Given the description of an element on the screen output the (x, y) to click on. 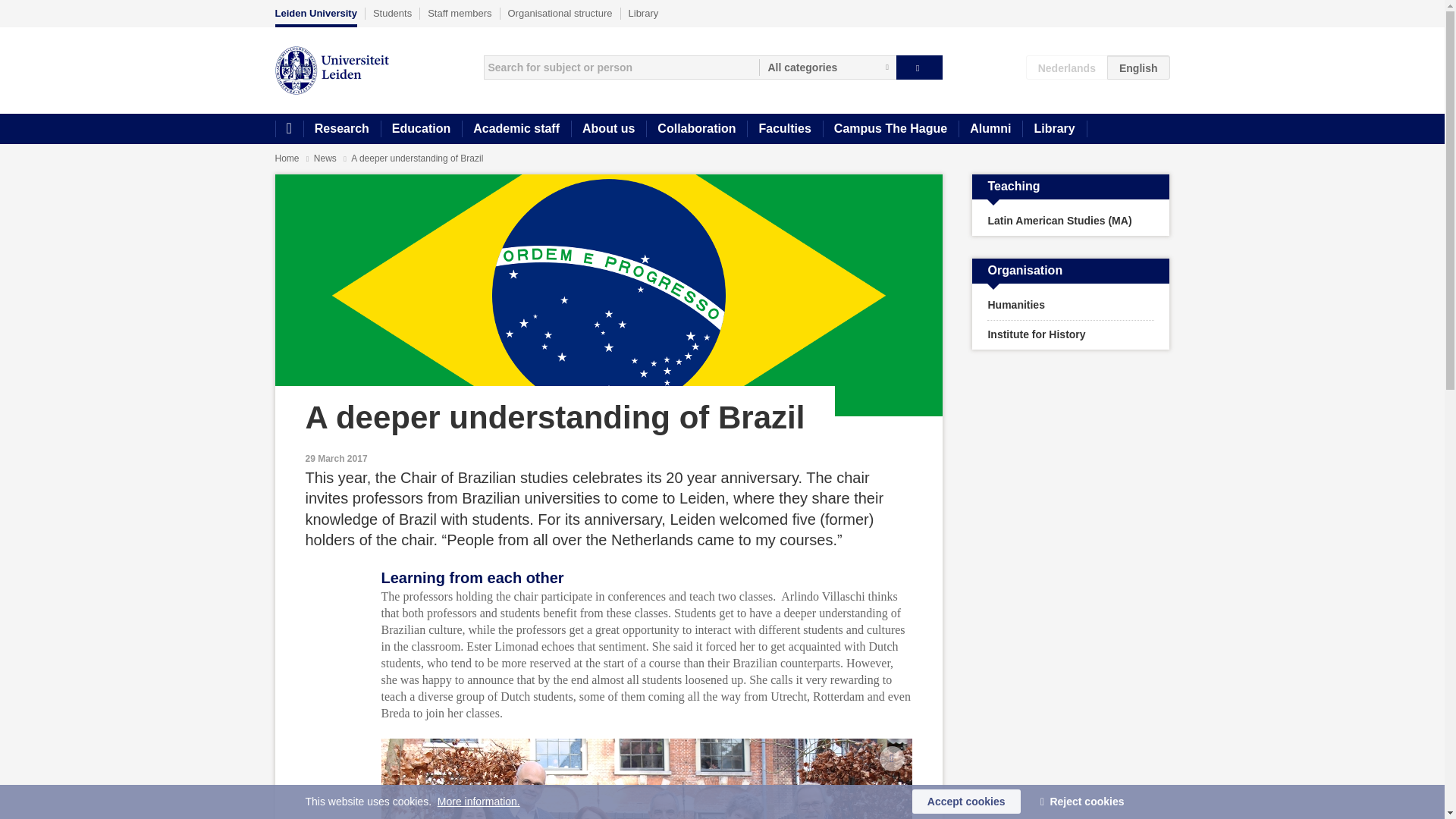
Campus The Hague (890, 128)
Collaboration (696, 128)
Research (341, 128)
About us (608, 128)
Alumni (990, 128)
Students (392, 13)
Leiden University (315, 17)
Faculties (784, 128)
Staff members (460, 13)
Library (643, 13)
Home (288, 128)
Search (919, 67)
Library (1054, 128)
Academic staff (515, 128)
Organisational structure (560, 13)
